Given the description of an element on the screen output the (x, y) to click on. 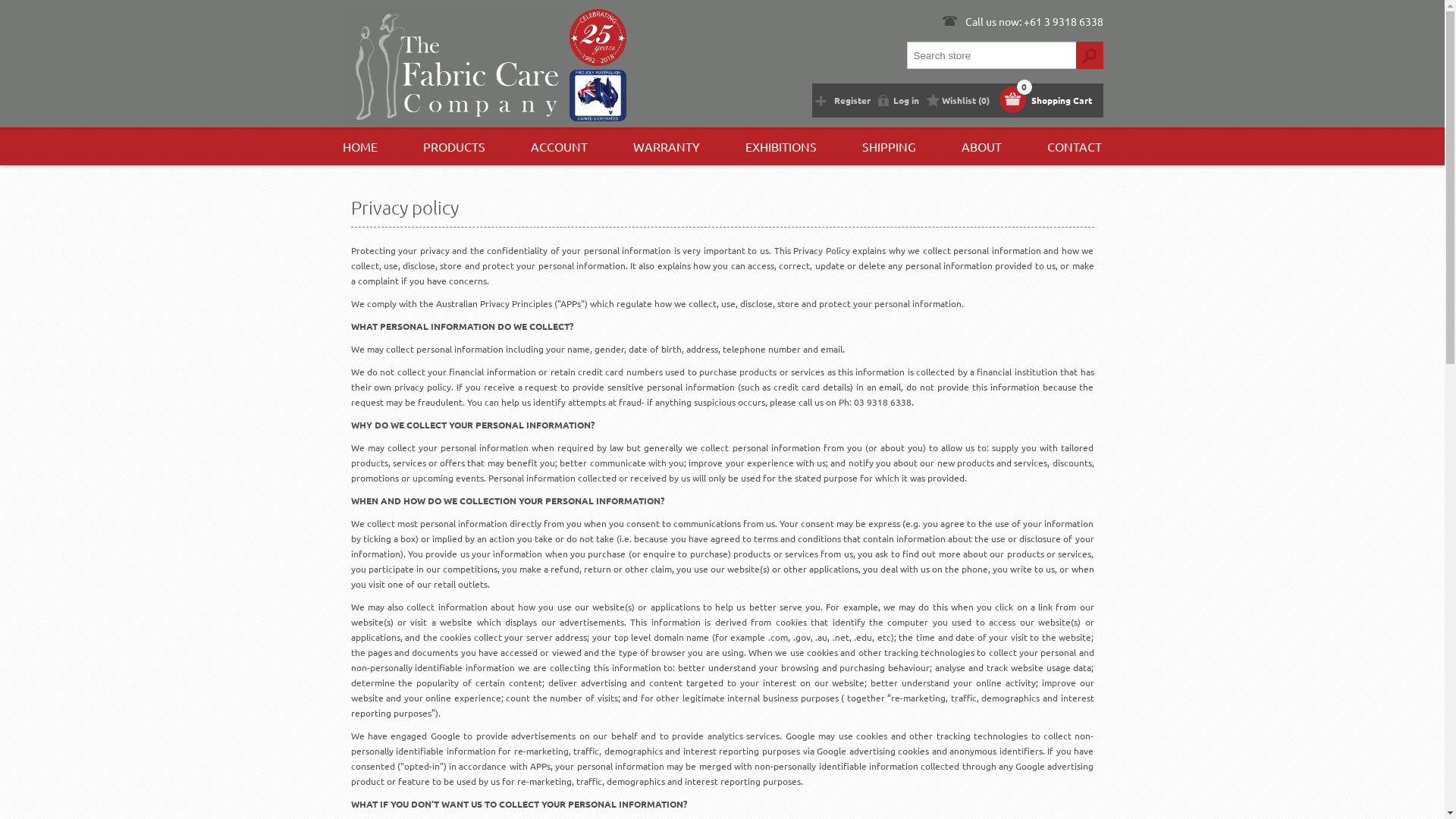
+61 3 9318 6338 Element type: text (1063, 21)
ACCOUNT Element type: text (559, 146)
HOME Element type: text (360, 146)
Search Element type: text (1088, 55)
Log in Element type: text (899, 99)
CONTACT Element type: text (1074, 146)
Register Element type: text (845, 99)
Shopping Cart
0 Element type: text (1047, 100)
ABOUT Element type: text (981, 146)
EXHIBITIONS Element type: text (780, 146)
SHIPPING Element type: text (888, 146)
Wishlist (0) Element type: text (958, 99)
WARRANTY Element type: text (666, 146)
